Given the description of an element on the screen output the (x, y) to click on. 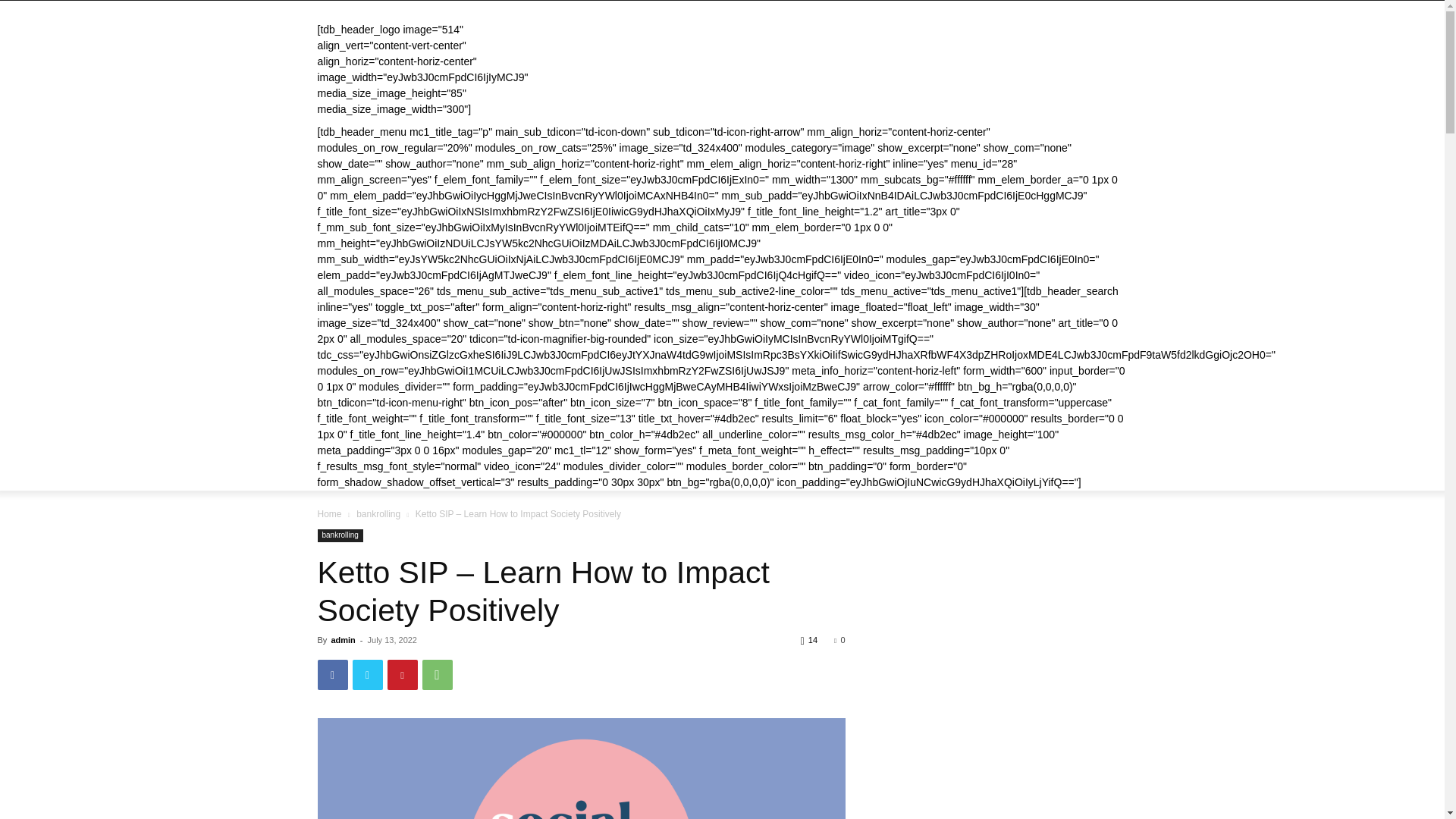
0 (839, 639)
admin (342, 639)
Facebook (332, 675)
WhatsApp (436, 675)
View all posts in bankrolling (378, 513)
Pinterest (401, 675)
Home (328, 513)
Twitter (366, 675)
bankrolling (378, 513)
bankrolling (339, 535)
